Given the description of an element on the screen output the (x, y) to click on. 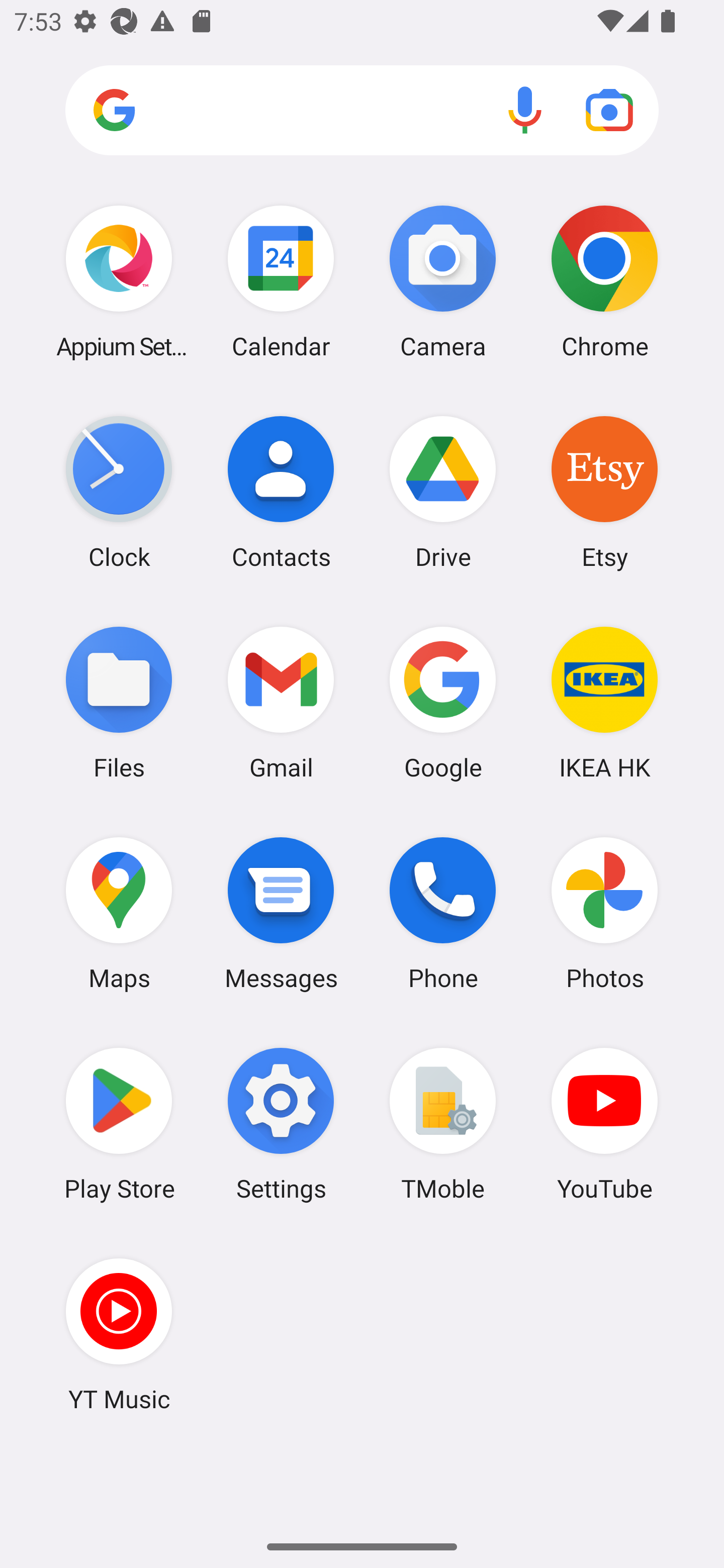
Search apps, web and more (361, 110)
Voice search (524, 109)
Google Lens (608, 109)
Appium Settings (118, 281)
Calendar (280, 281)
Camera (443, 281)
Chrome (604, 281)
Clock (118, 492)
Contacts (280, 492)
Drive (443, 492)
Etsy (604, 492)
Files (118, 702)
Gmail (280, 702)
Google (443, 702)
IKEA HK (604, 702)
Maps (118, 913)
Messages (280, 913)
Phone (443, 913)
Photos (604, 913)
Play Store (118, 1124)
Settings (280, 1124)
TMoble (443, 1124)
YouTube (604, 1124)
YT Music (118, 1334)
